Given the description of an element on the screen output the (x, y) to click on. 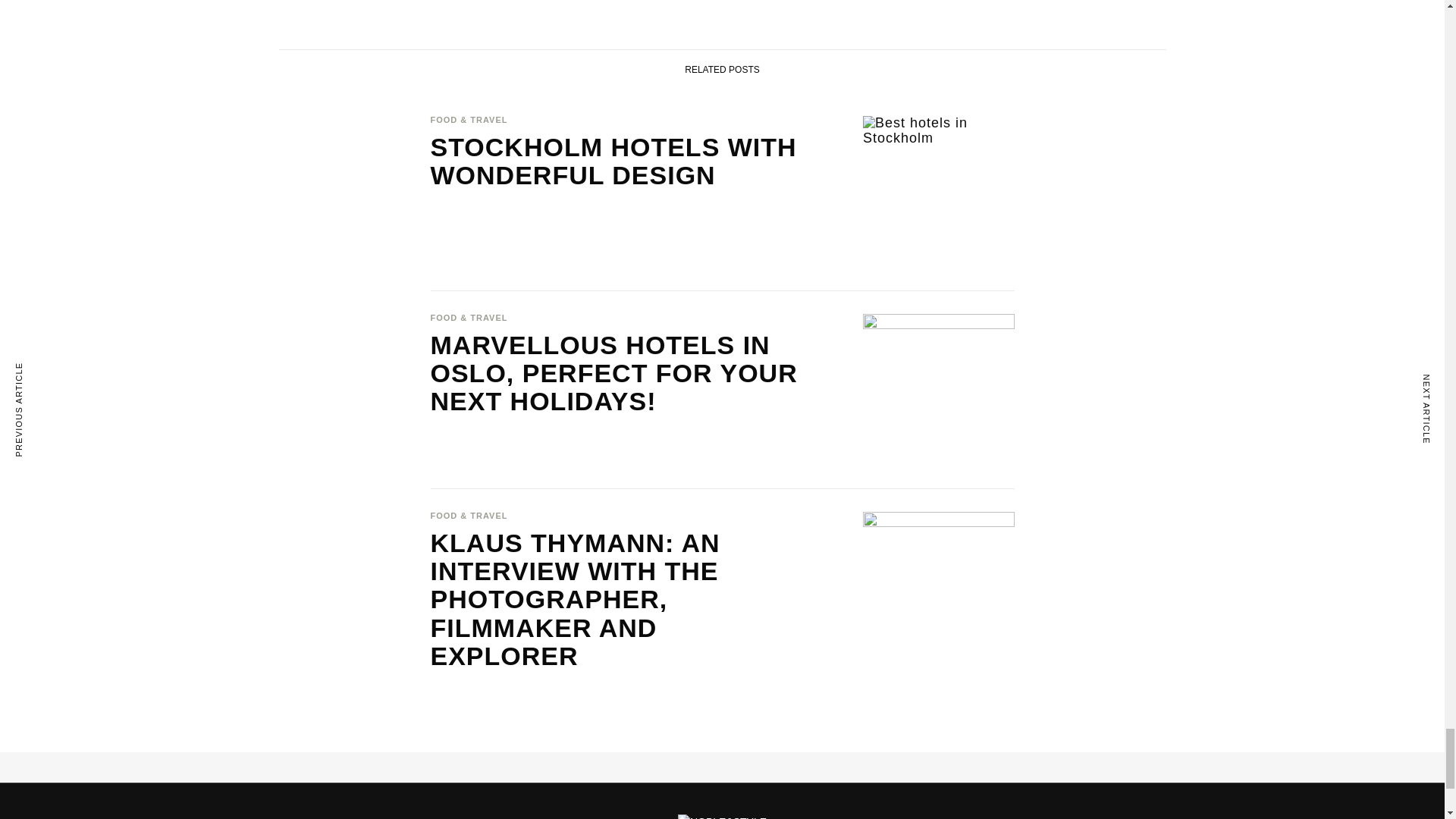
Stockholm Hotels with Wonderful Design (617, 161)
